Given the description of an element on the screen output the (x, y) to click on. 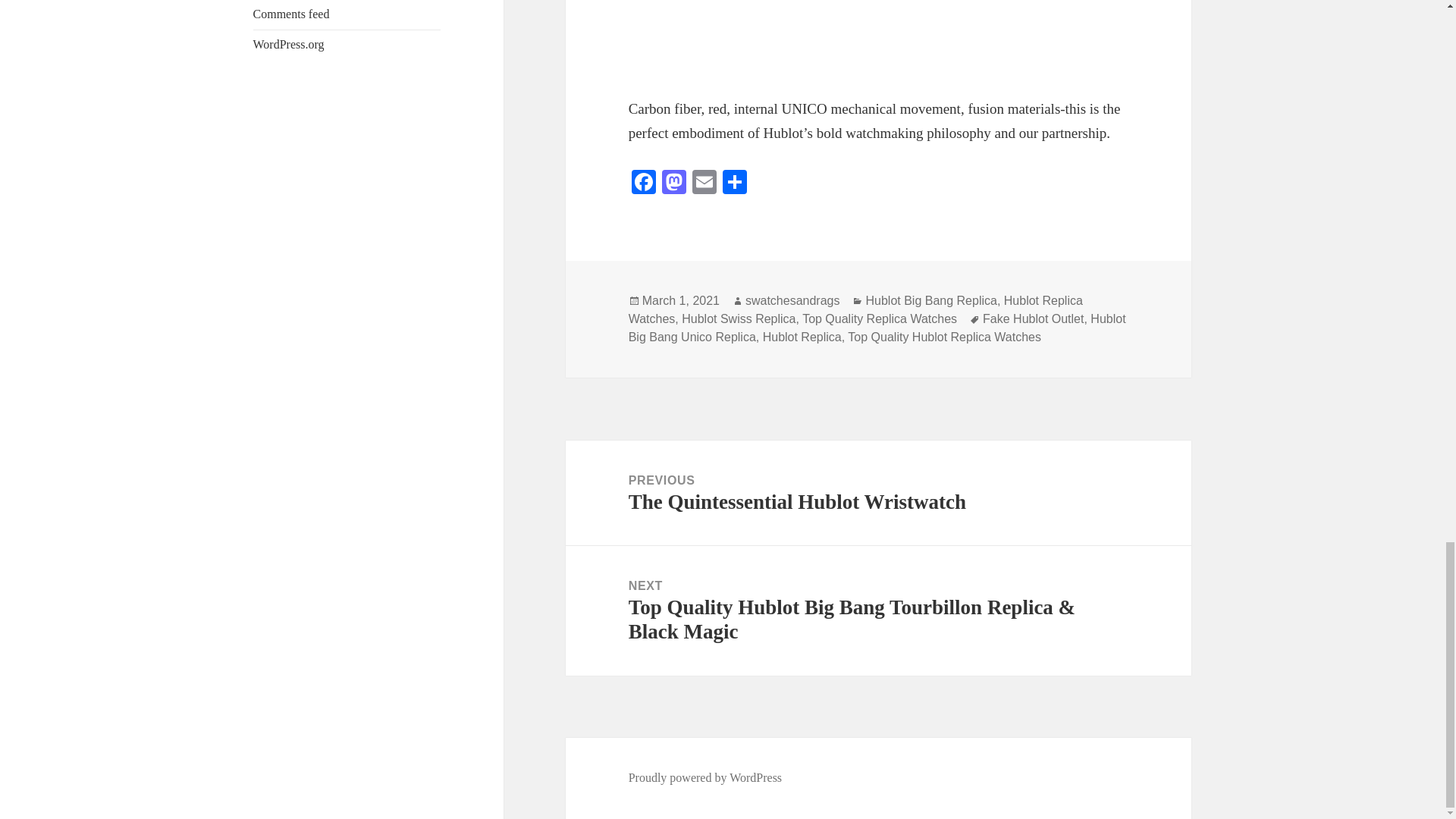
Comments feed (291, 13)
Facebook (643, 183)
March 1, 2021 (680, 300)
Hublot Big Bang Unico Replica (876, 327)
swatchesandrags (792, 300)
Hublot Replica Watches (855, 309)
Mastodon (673, 183)
Top Quality Replica Watches (879, 318)
Hublot Replica (801, 336)
Hublot Big Bang Replica (929, 300)
Hublot Swiss Replica (737, 318)
WordPress.org (288, 43)
Facebook (643, 183)
Email (703, 183)
Fake Hublot Outlet (1032, 318)
